Given the description of an element on the screen output the (x, y) to click on. 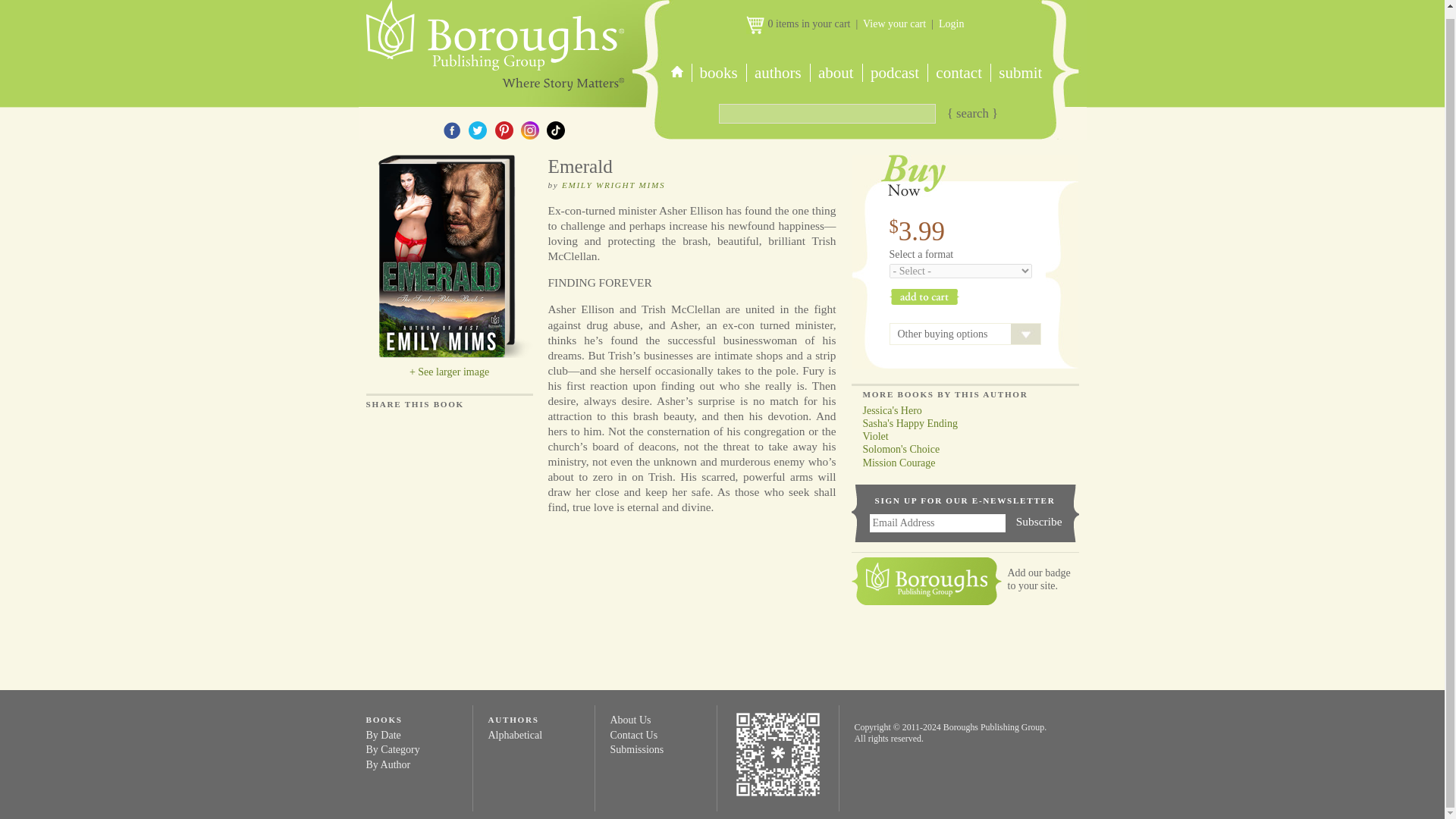
Solomon's Choice (894, 449)
By Date (382, 735)
Emerald (448, 258)
books (718, 72)
Jessica's Hero (885, 410)
View your cart (894, 23)
submit (1019, 72)
Login (951, 23)
authors (777, 72)
Sasha's Happy Ending (903, 423)
Subscribe (1039, 521)
By Category (392, 749)
EMILY WRIGHT MIMS (613, 184)
By Author (387, 764)
